Given the description of an element on the screen output the (x, y) to click on. 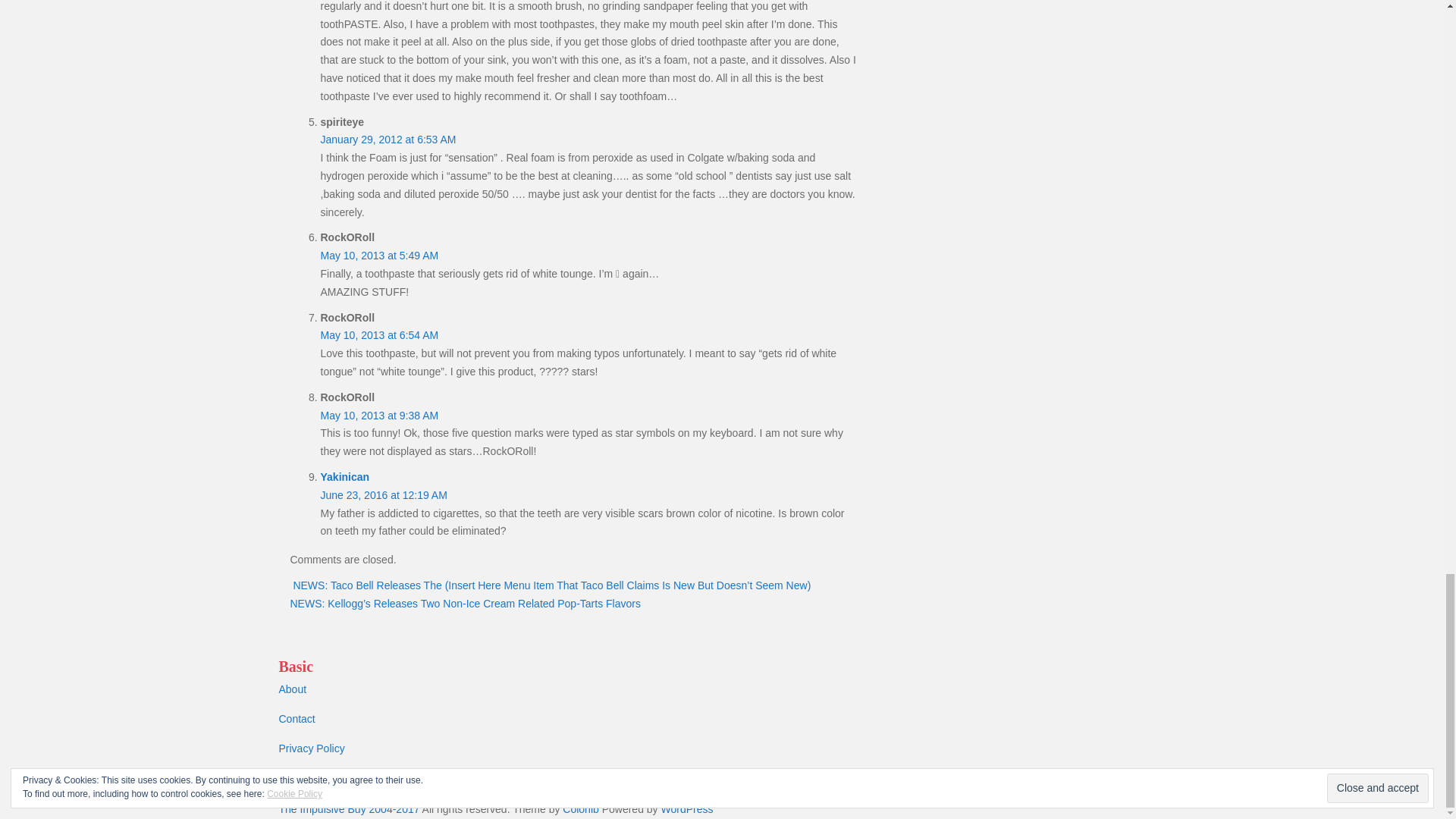
May 10, 2013 at 5:49 AM (379, 255)
January 29, 2012 at 6:53 AM (387, 139)
June 23, 2016 at 12:19 AM (383, 494)
May 10, 2013 at 9:38 AM (379, 415)
Yakinican (344, 476)
May 10, 2013 at 6:54 AM (379, 335)
